Given the description of an element on the screen output the (x, y) to click on. 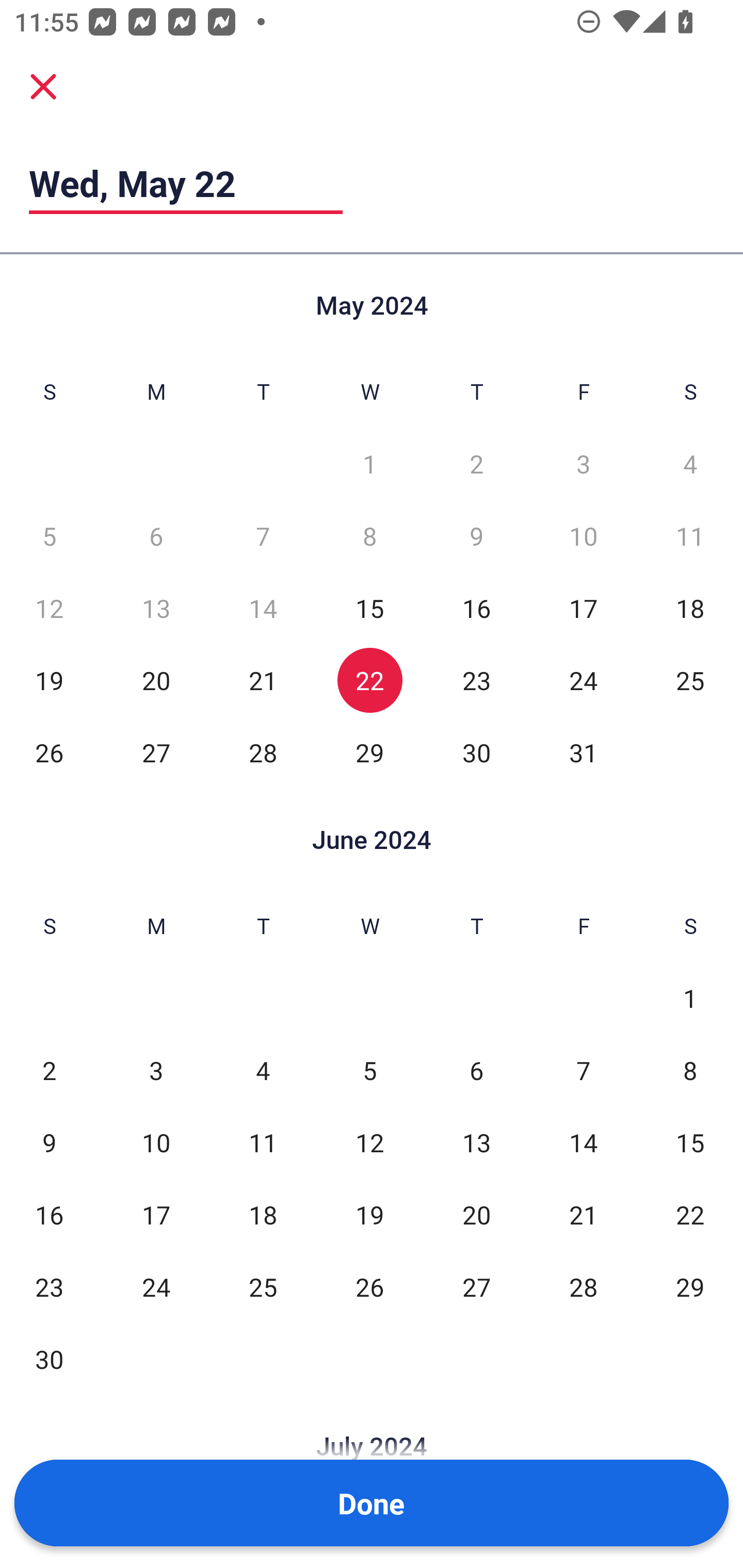
Cancel (43, 86)
Wed, May 22 (185, 182)
1 Wed, May 1, Not Selected (369, 464)
2 Thu, May 2, Not Selected (476, 464)
3 Fri, May 3, Not Selected (583, 464)
4 Sat, May 4, Not Selected (690, 464)
5 Sun, May 5, Not Selected (49, 536)
6 Mon, May 6, Not Selected (156, 536)
7 Tue, May 7, Not Selected (263, 536)
8 Wed, May 8, Not Selected (369, 536)
9 Thu, May 9, Not Selected (476, 536)
10 Fri, May 10, Not Selected (583, 536)
11 Sat, May 11, Not Selected (690, 536)
12 Sun, May 12, Not Selected (49, 608)
13 Mon, May 13, Not Selected (156, 608)
14 Tue, May 14, Not Selected (263, 608)
15 Wed, May 15, Not Selected (369, 608)
16 Thu, May 16, Not Selected (476, 608)
17 Fri, May 17, Not Selected (583, 608)
18 Sat, May 18, Not Selected (690, 608)
19 Sun, May 19, Not Selected (49, 680)
20 Mon, May 20, Not Selected (156, 680)
21 Tue, May 21, Not Selected (263, 680)
22 Wed, May 22, Selected (369, 680)
23 Thu, May 23, Not Selected (476, 680)
24 Fri, May 24, Not Selected (583, 680)
25 Sat, May 25, Not Selected (690, 680)
26 Sun, May 26, Not Selected (49, 752)
27 Mon, May 27, Not Selected (156, 752)
28 Tue, May 28, Not Selected (263, 752)
29 Wed, May 29, Not Selected (369, 752)
30 Thu, May 30, Not Selected (476, 752)
31 Fri, May 31, Not Selected (583, 752)
1 Sat, Jun 1, Not Selected (690, 997)
2 Sun, Jun 2, Not Selected (49, 1070)
3 Mon, Jun 3, Not Selected (156, 1070)
4 Tue, Jun 4, Not Selected (263, 1070)
5 Wed, Jun 5, Not Selected (369, 1070)
6 Thu, Jun 6, Not Selected (476, 1070)
7 Fri, Jun 7, Not Selected (583, 1070)
8 Sat, Jun 8, Not Selected (690, 1070)
9 Sun, Jun 9, Not Selected (49, 1143)
10 Mon, Jun 10, Not Selected (156, 1143)
11 Tue, Jun 11, Not Selected (263, 1143)
12 Wed, Jun 12, Not Selected (369, 1143)
13 Thu, Jun 13, Not Selected (476, 1143)
14 Fri, Jun 14, Not Selected (583, 1143)
15 Sat, Jun 15, Not Selected (690, 1143)
16 Sun, Jun 16, Not Selected (49, 1215)
17 Mon, Jun 17, Not Selected (156, 1215)
